Given the description of an element on the screen output the (x, y) to click on. 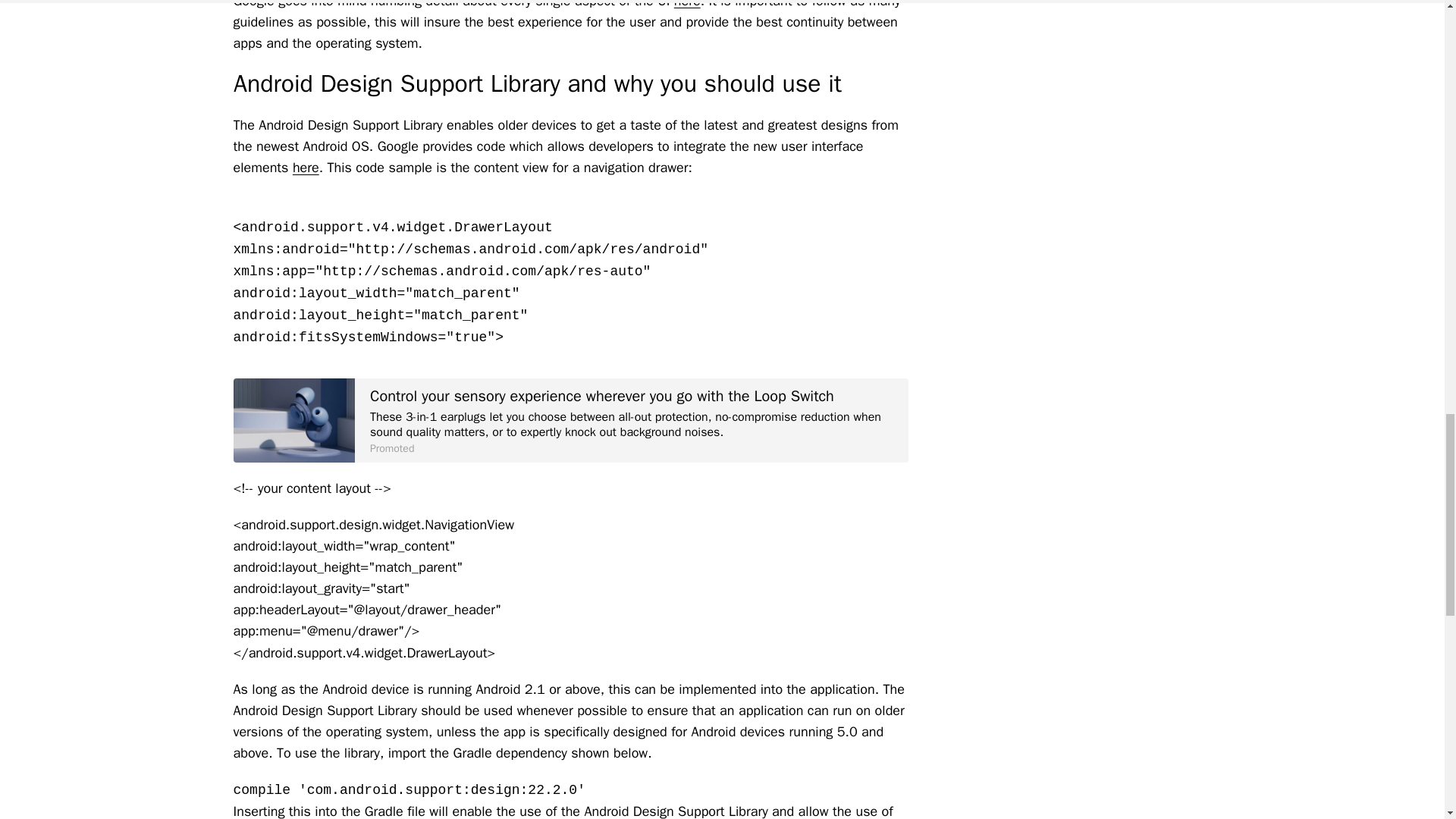
here (305, 167)
here (687, 4)
